Given the description of an element on the screen output the (x, y) to click on. 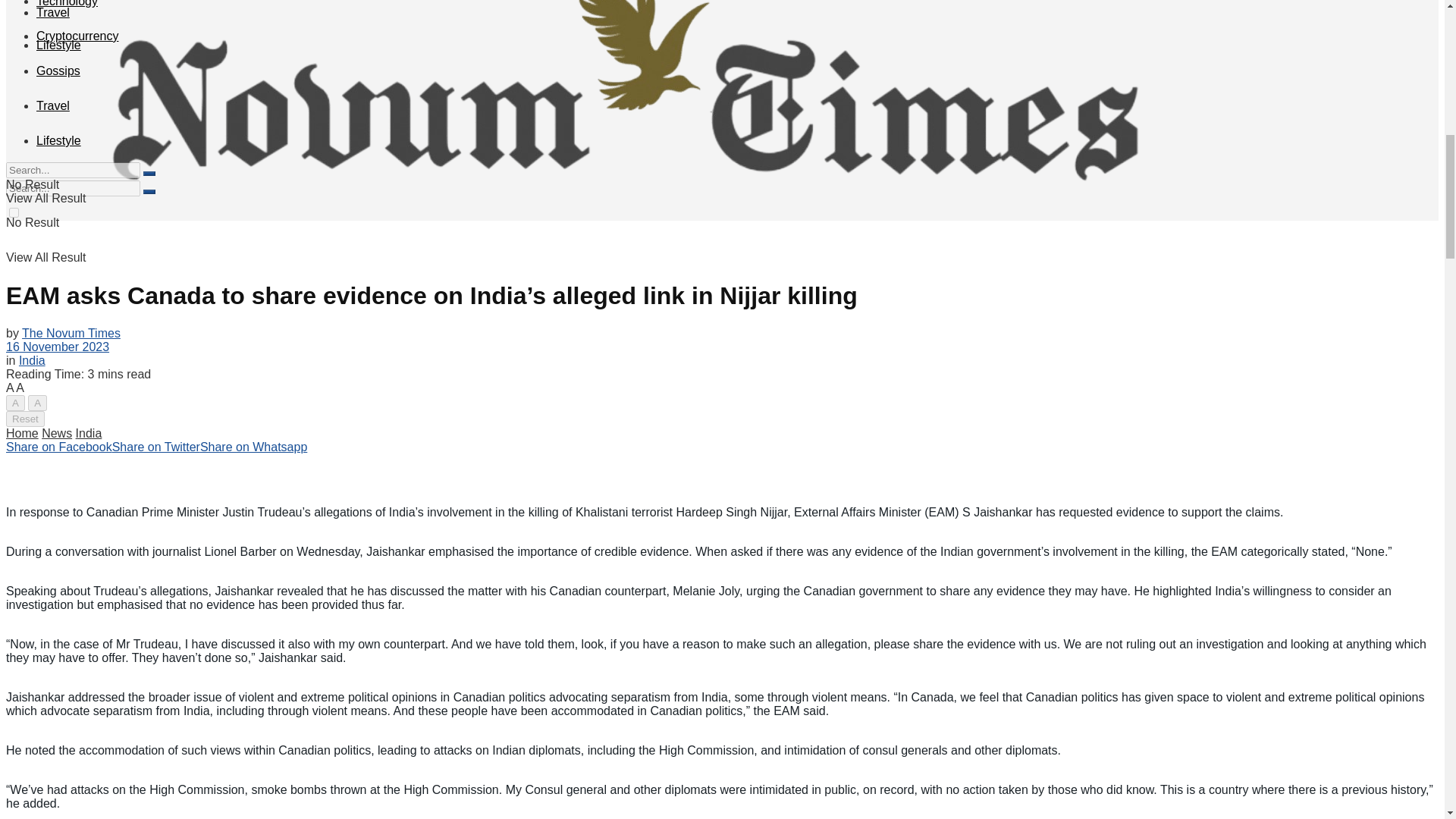
on (13, 212)
Lifestyle (58, 44)
Travel (52, 11)
